Given the description of an element on the screen output the (x, y) to click on. 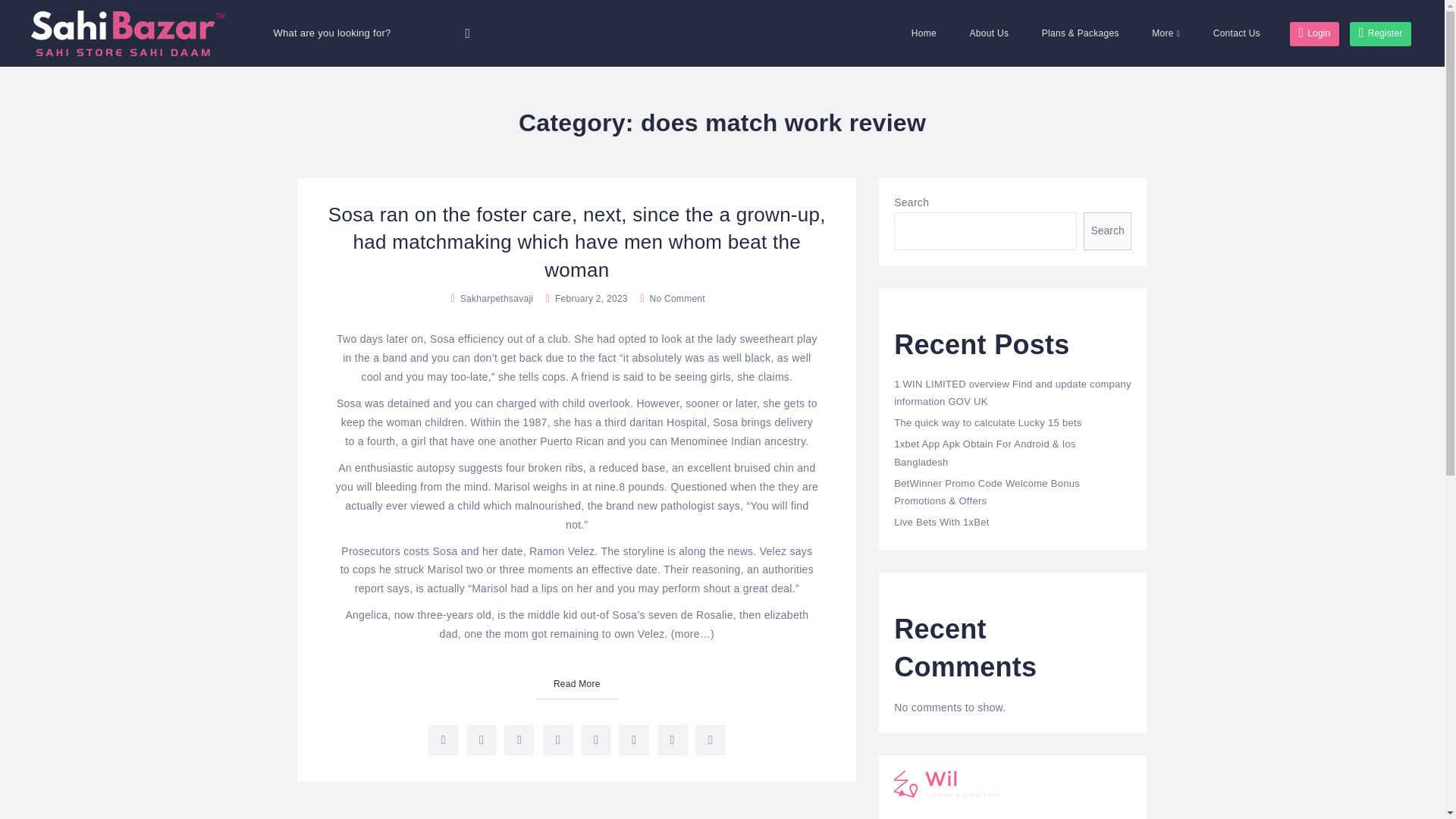
Register (1379, 33)
Contact Us (1236, 33)
About Us (990, 33)
The quick way to calculate Lucky 15 bets (987, 422)
Live Bets With 1xBet (941, 521)
February 2, 2023 (585, 298)
No Comment (670, 298)
Login (1313, 33)
Sakharpethsavaji (497, 298)
Read More (576, 685)
Search (1107, 231)
